Given the description of an element on the screen output the (x, y) to click on. 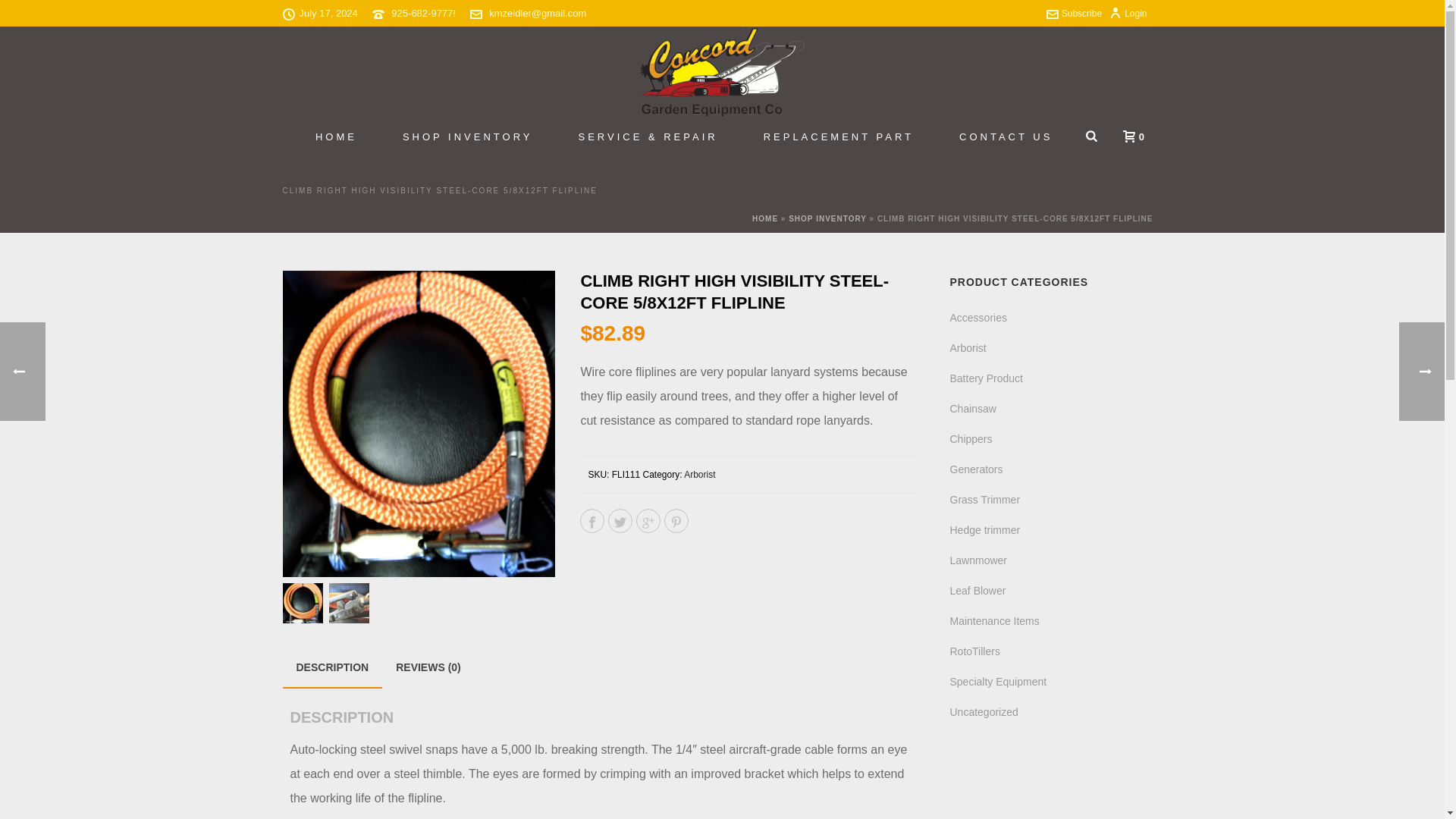
REPLACEMENT PART (838, 137)
Login (1128, 13)
925-682-9777! (423, 12)
0 (1129, 136)
SHOP INVENTORY (468, 137)
REPLACEMENT PART (838, 137)
SHOP INVENTORY (468, 137)
Concord Garden (721, 71)
Climb Right FLI111 12ft Flipline (418, 424)
HOME (336, 137)
CONTACT US (1005, 137)
CONTACT US (1005, 137)
Subscribe (1074, 13)
HOME (336, 137)
